Given the description of an element on the screen output the (x, y) to click on. 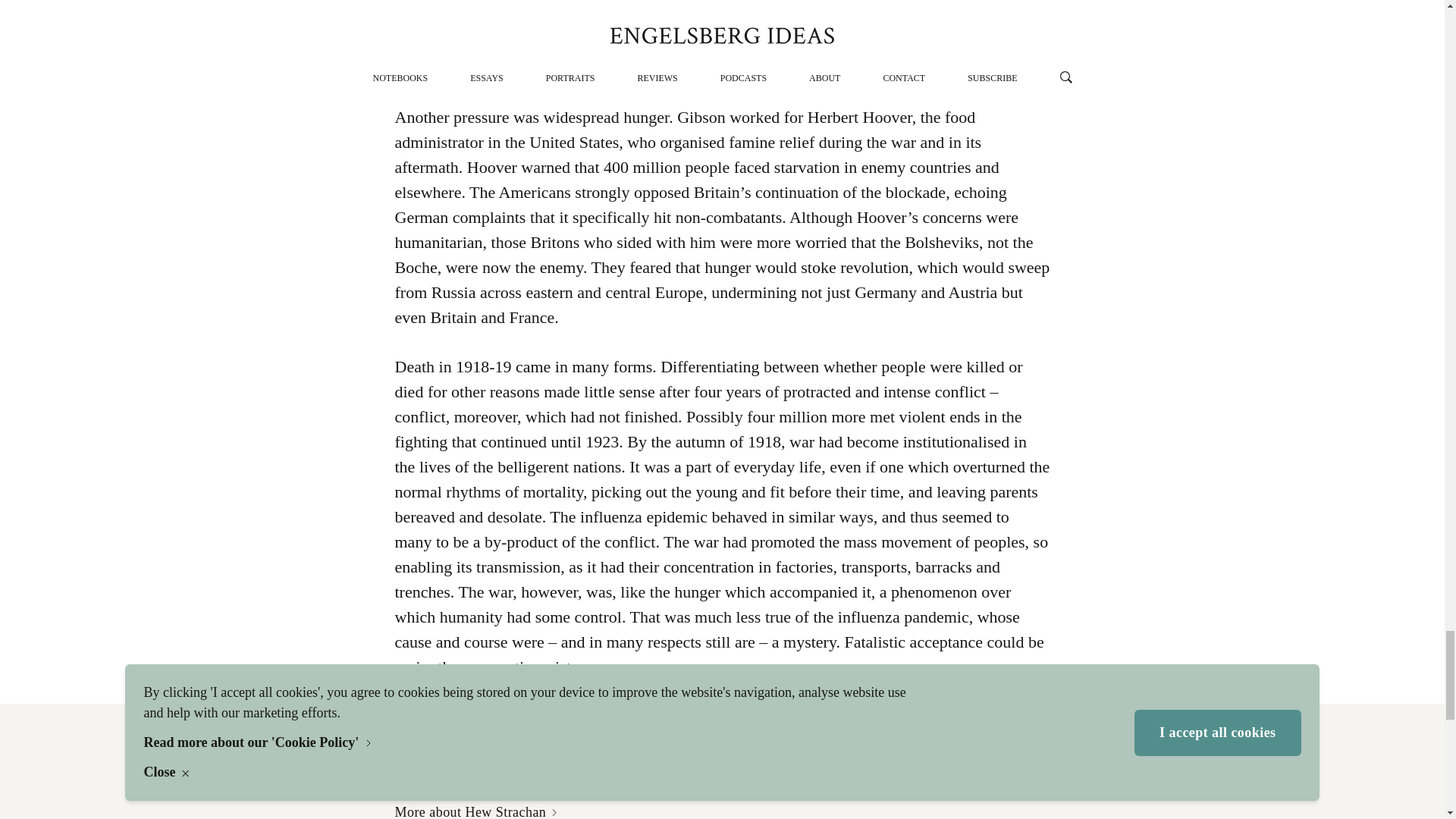
More about Hew Strachan (475, 811)
